Given the description of an element on the screen output the (x, y) to click on. 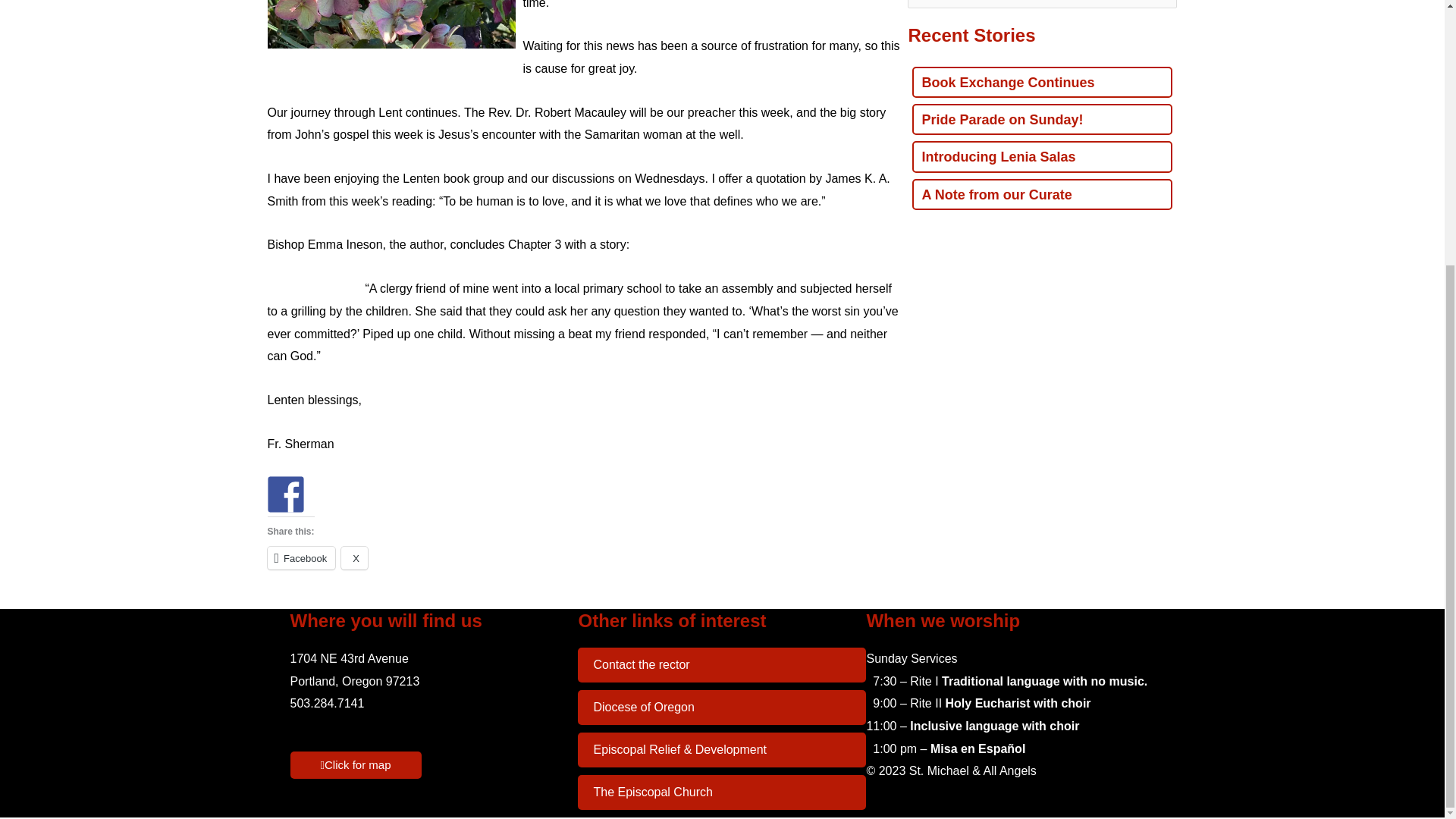
Share on Facebook (284, 493)
X (354, 558)
Search (1159, 8)
Click to share on X (354, 558)
Facebook (300, 558)
Click to share on Facebook (300, 558)
Search (1159, 8)
